Given the description of an element on the screen output the (x, y) to click on. 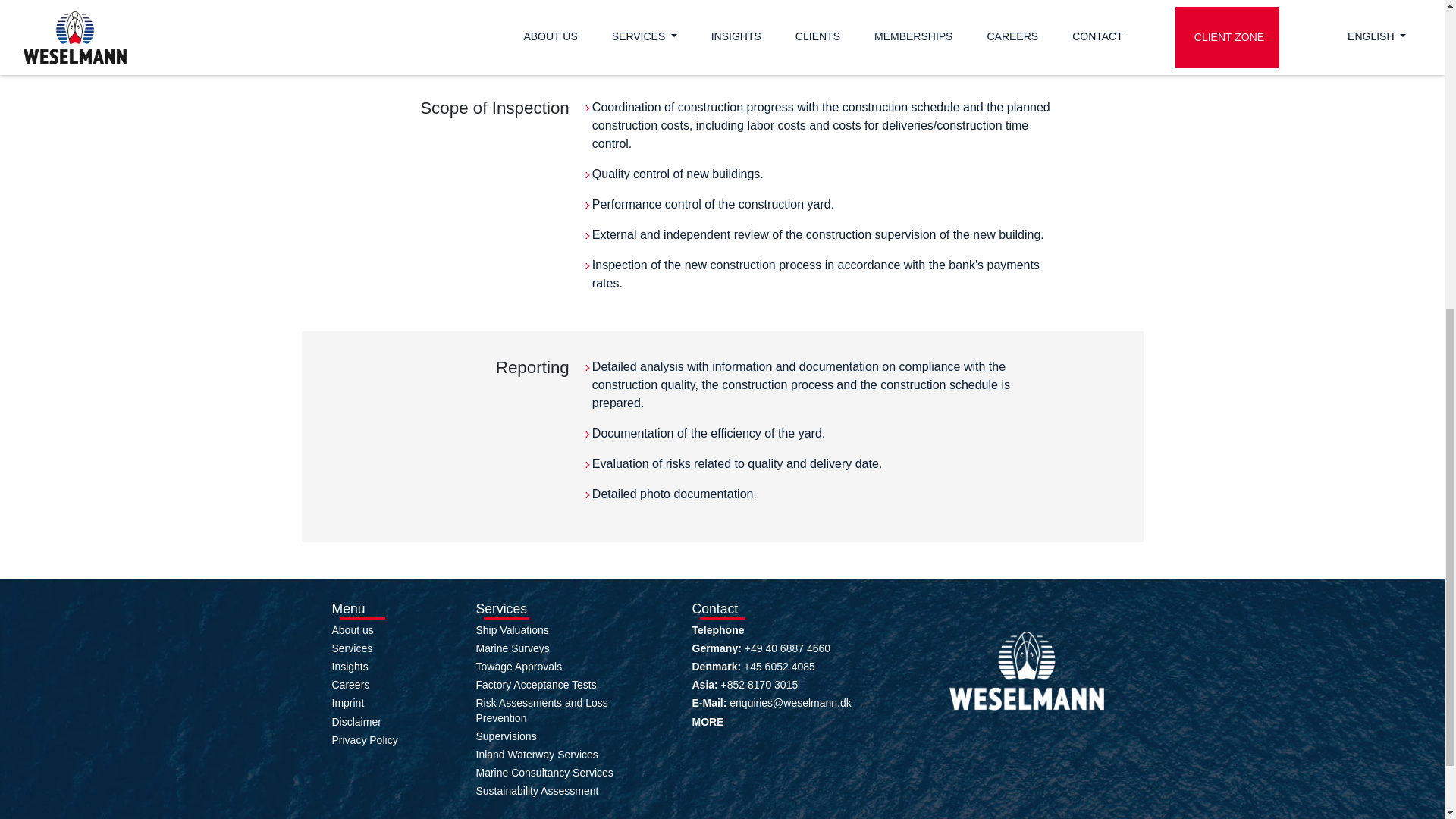
Disclaimer (356, 721)
Privacy Policy (364, 739)
About us (352, 630)
Insights (349, 666)
Imprint (348, 702)
Services (351, 648)
Careers (350, 684)
